Given the description of an element on the screen output the (x, y) to click on. 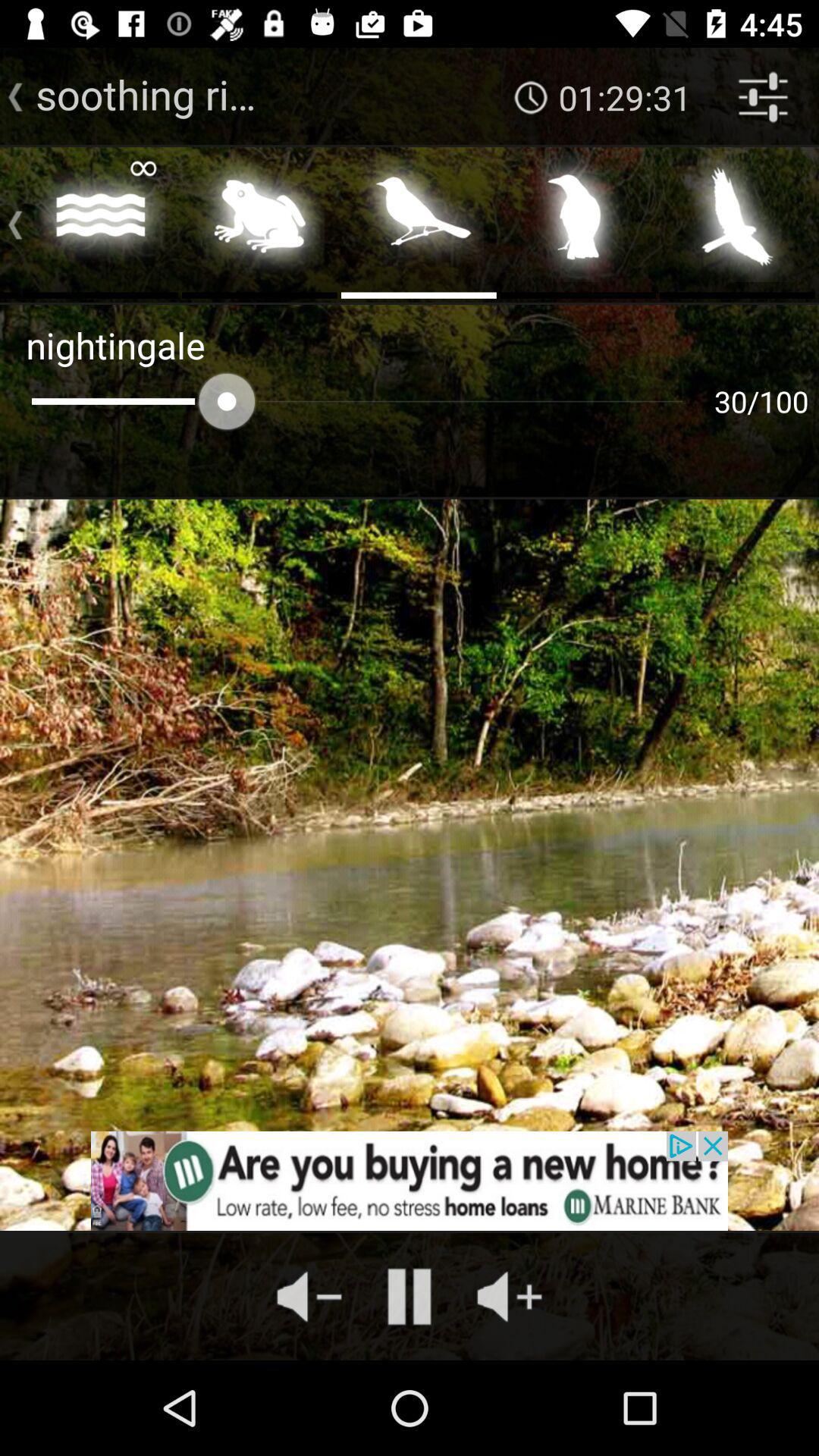
launch advertisement (409, 1180)
